Given the description of an element on the screen output the (x, y) to click on. 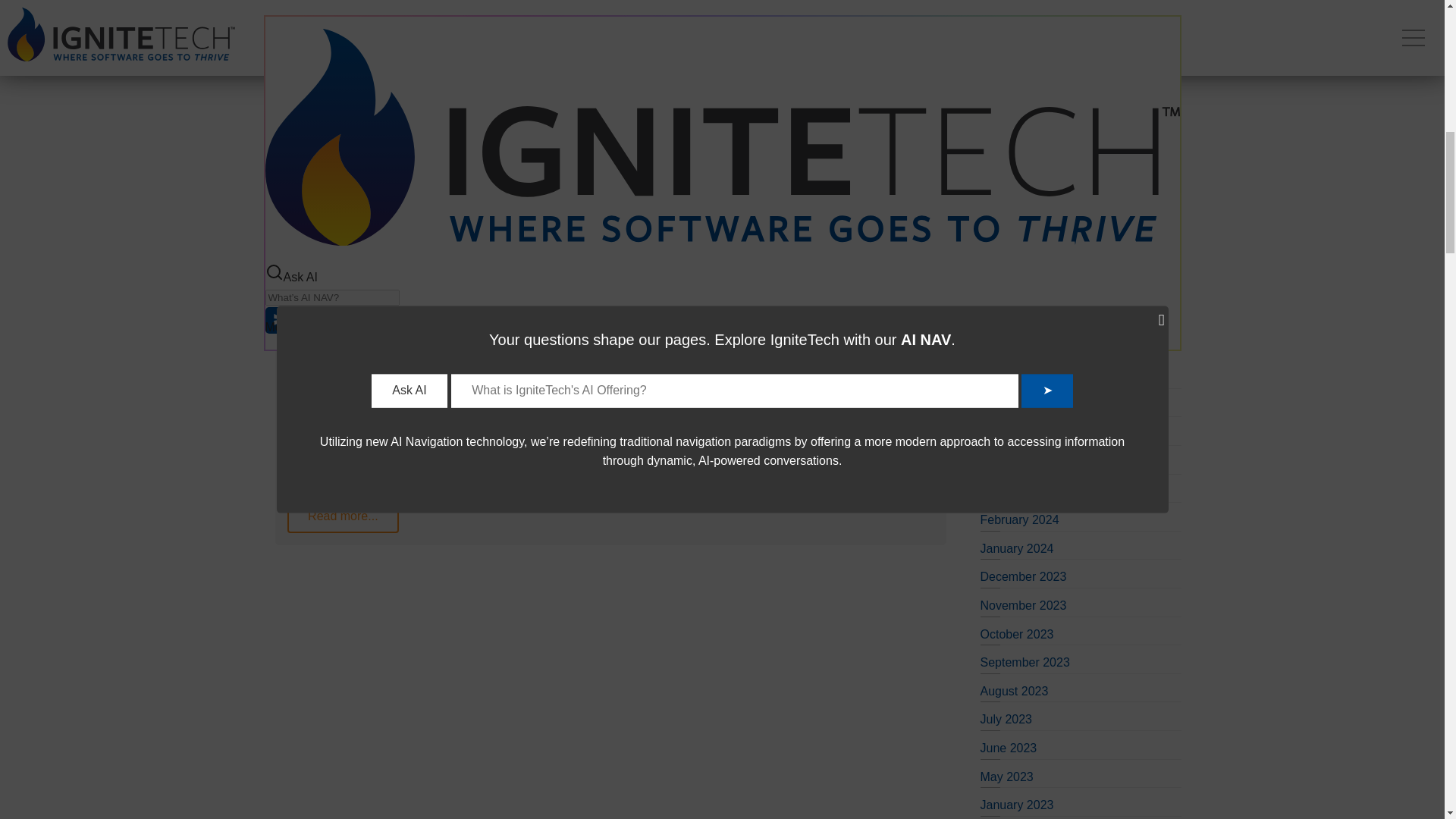
April 2024 (1006, 462)
Read more... (342, 516)
May 2024 (1005, 433)
All (985, 377)
March 2024 (1011, 491)
Functional Process Automation (1063, 114)
CEO blog (1005, 13)
Customer Experience Management (1074, 247)
Information Technology Acceleration (1076, 142)
June 2024 (1007, 405)
